Given the description of an element on the screen output the (x, y) to click on. 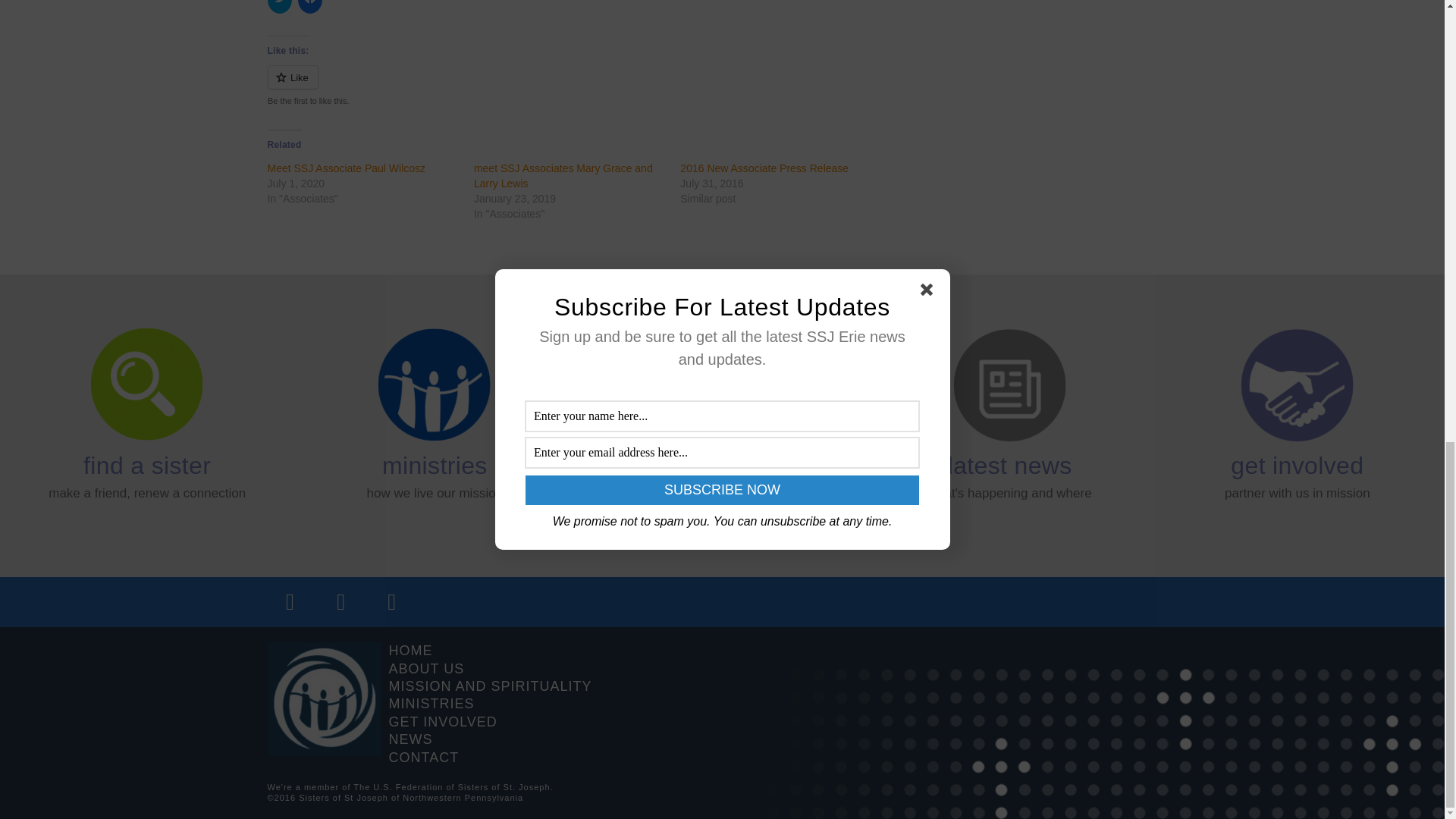
Click to share on Facebook (309, 6)
Meet SSJ Associate Paul Wilcosz (345, 168)
2016 New Associate Press Release (763, 168)
Like or Reblog (579, 86)
meet SSJ Associates Mary Grace and Larry Lewis (563, 175)
Click to share on Twitter (278, 6)
